Given the description of an element on the screen output the (x, y) to click on. 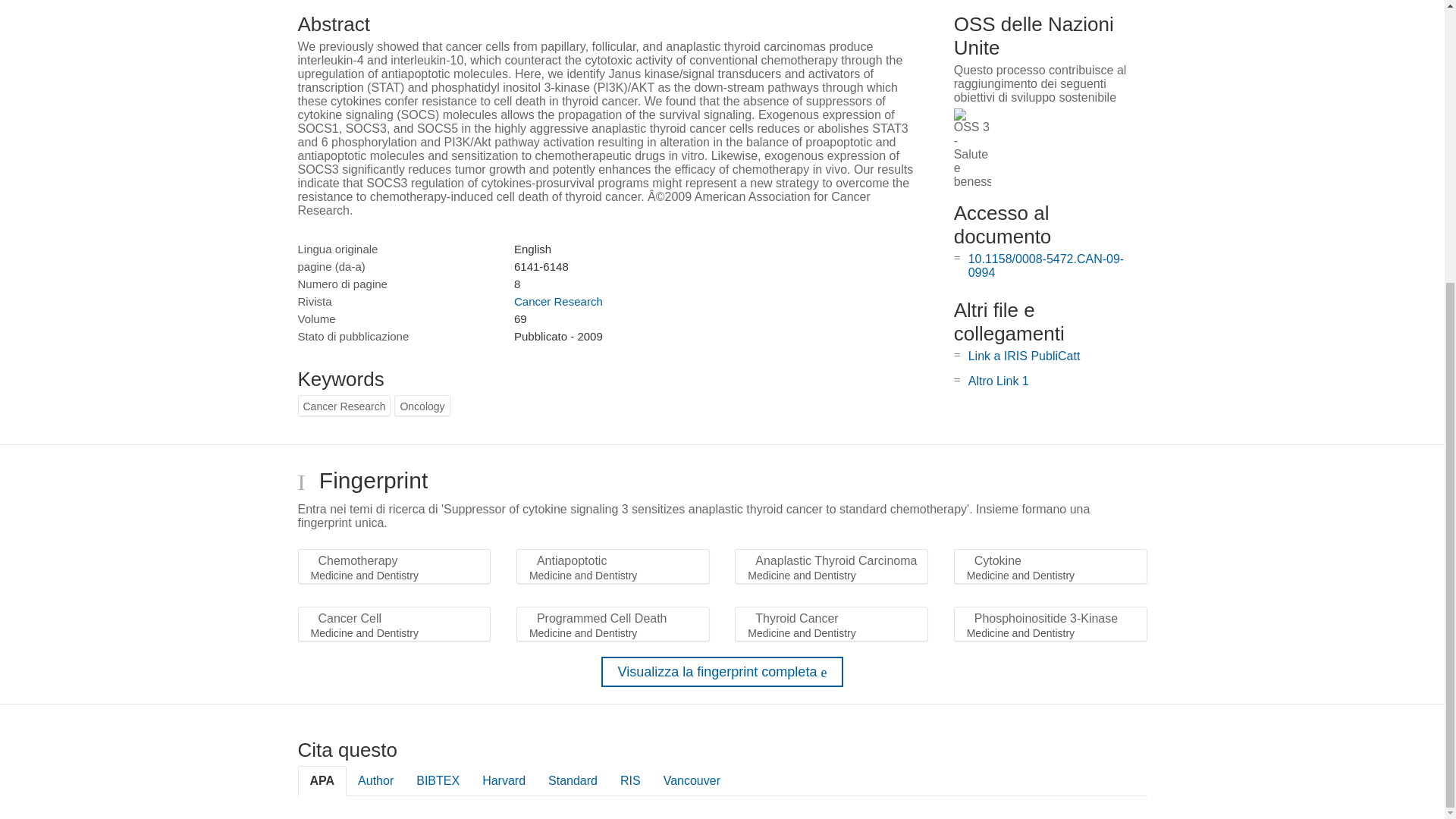
Cancer Research (557, 300)
Link a IRIS PubliCatt (1024, 355)
Altro Link 1 (998, 380)
Visualizza la fingerprint completa (722, 671)
